Given the description of an element on the screen output the (x, y) to click on. 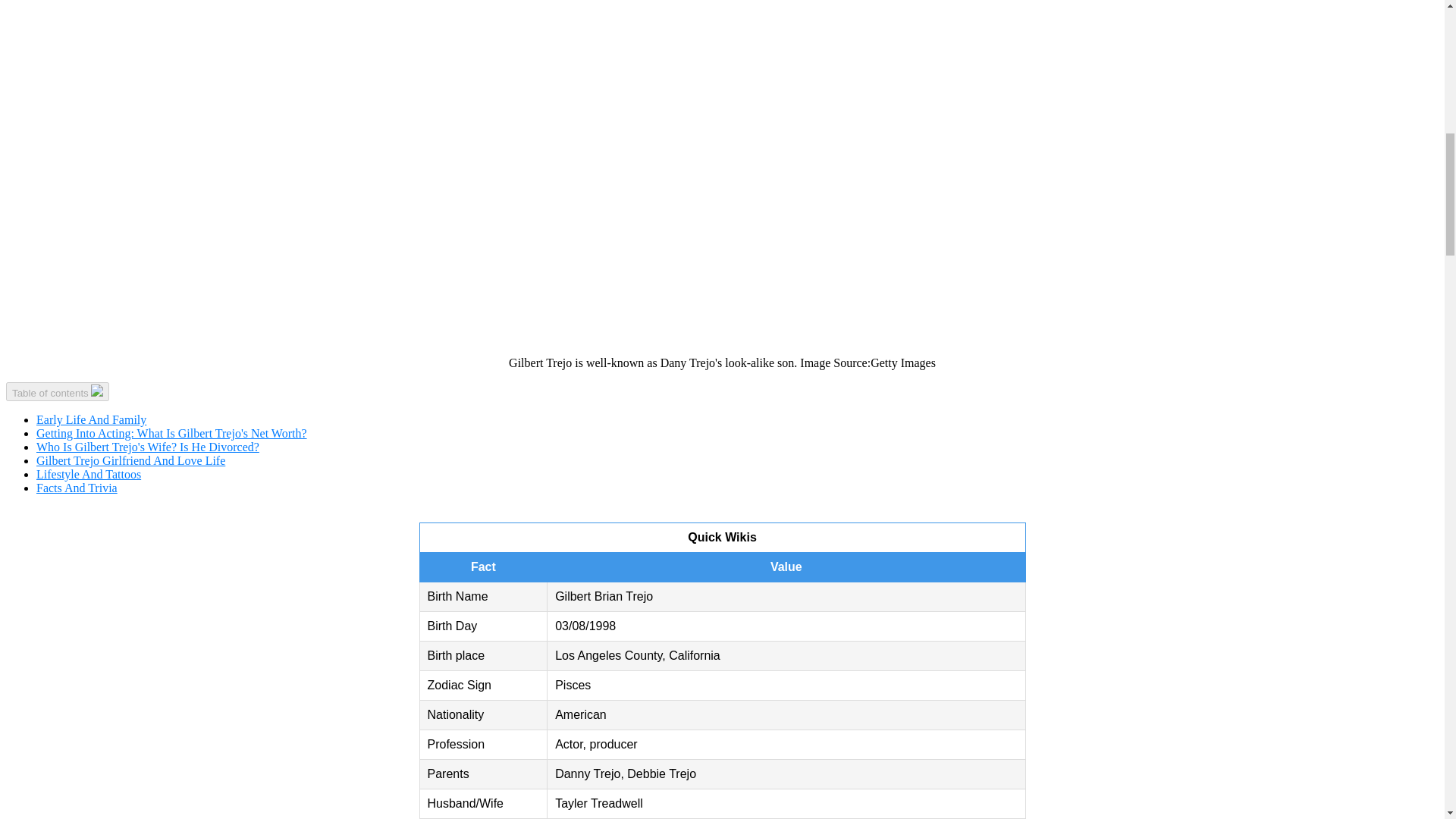
Who Is Gilbert Trejo's Wife? Is He Divorced? (147, 446)
Table of contents (57, 391)
Gilbert Trejo Girlfriend And Love Life (130, 460)
Getting Into Acting: What Is Gilbert Trejo's Net Worth? (171, 432)
Facts And Trivia (76, 487)
Lifestyle And Tattoos (88, 473)
Early Life And Family (91, 419)
